Given the description of an element on the screen output the (x, y) to click on. 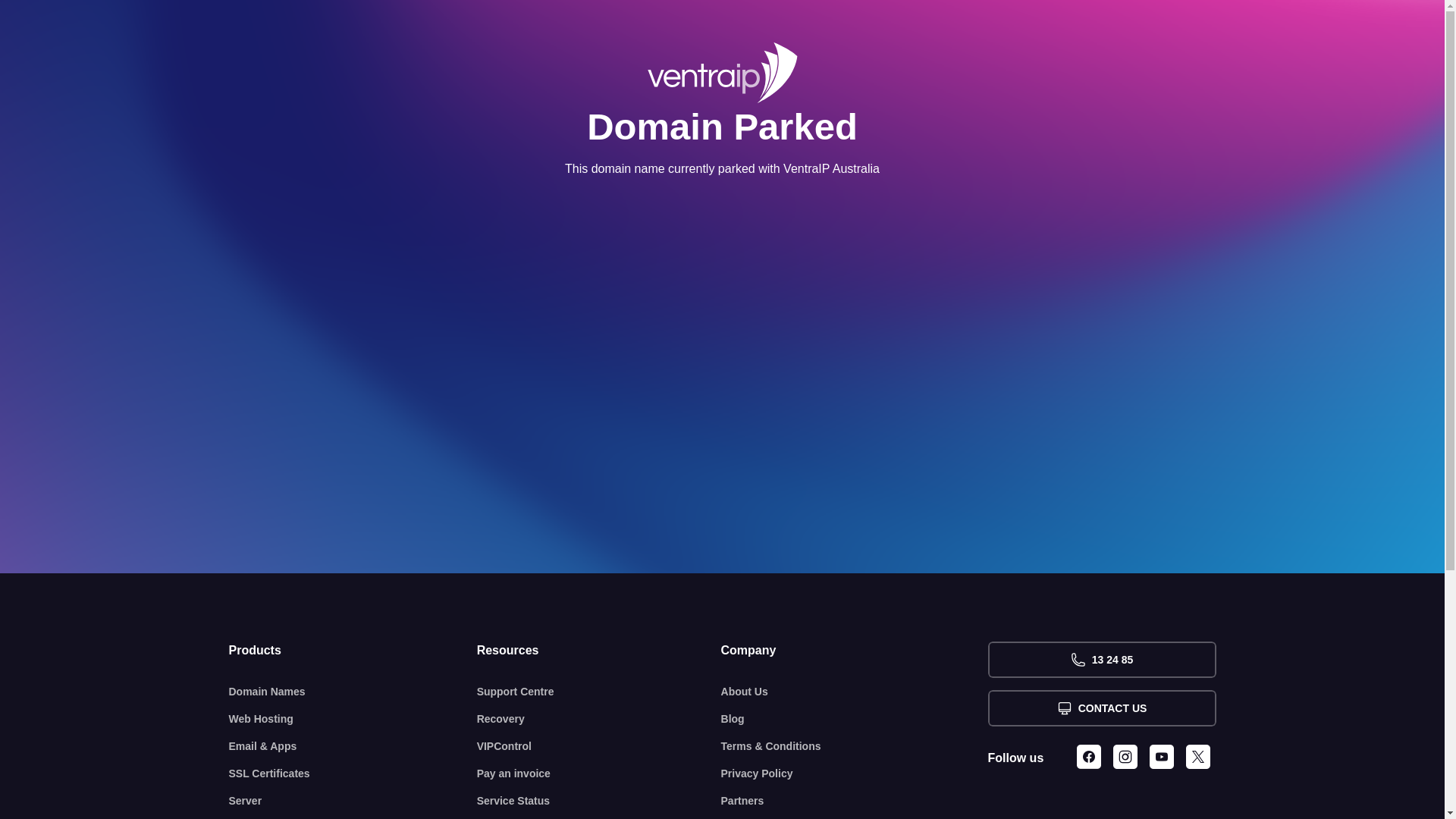
SSL Certificates Element type: text (352, 773)
Partners Element type: text (854, 800)
Email & Apps Element type: text (352, 745)
VIPControl Element type: text (598, 745)
About Us Element type: text (854, 691)
CONTACT US Element type: text (1101, 708)
Pay an invoice Element type: text (598, 773)
Recovery Element type: text (598, 718)
Server Element type: text (352, 800)
Blog Element type: text (854, 718)
Domain Names Element type: text (352, 691)
Terms & Conditions Element type: text (854, 745)
Support Centre Element type: text (598, 691)
Service Status Element type: text (598, 800)
13 24 85 Element type: text (1101, 659)
Web Hosting Element type: text (352, 718)
Privacy Policy Element type: text (854, 773)
